Given the description of an element on the screen output the (x, y) to click on. 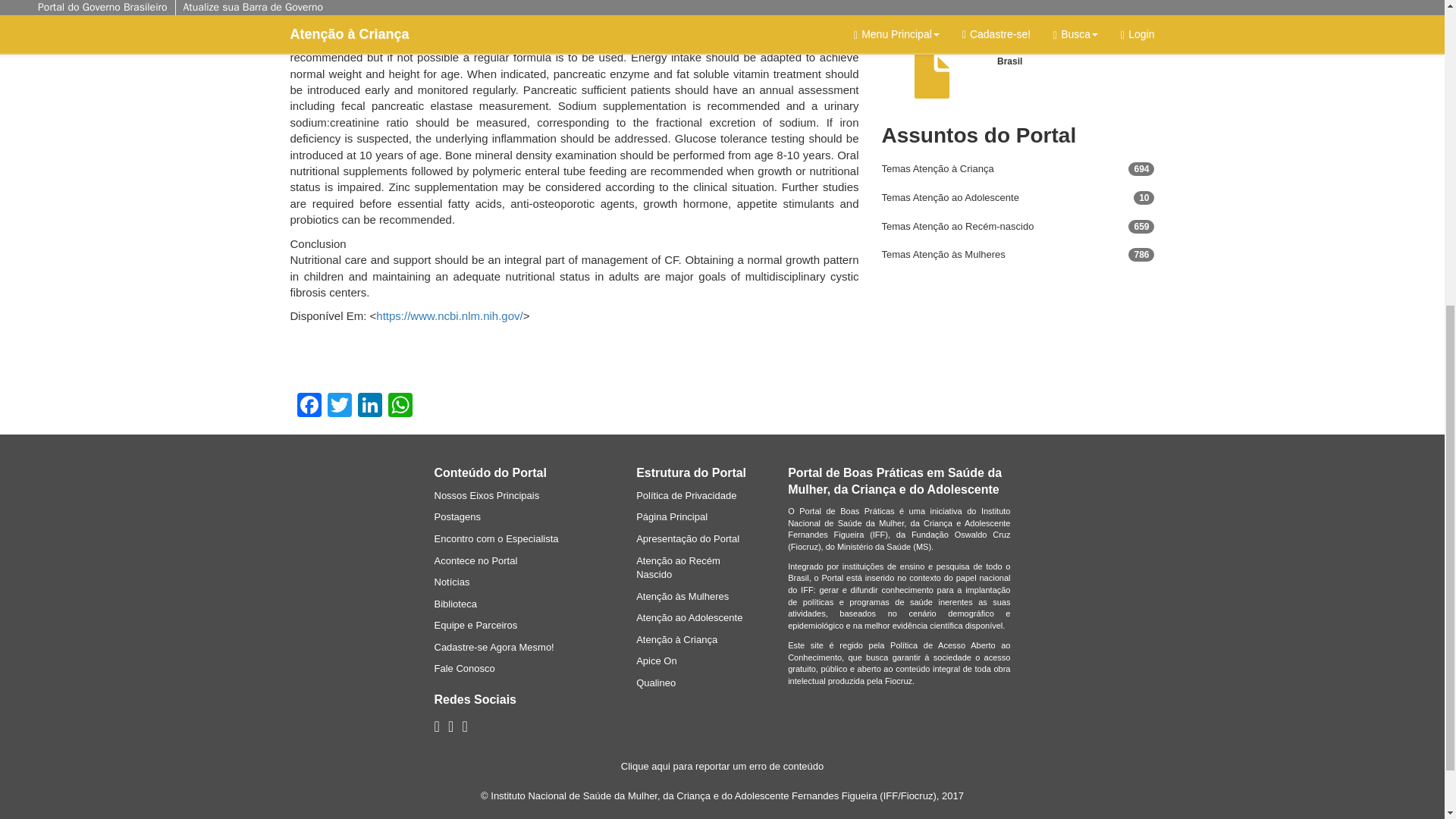
Facebook (309, 406)
LinkedIn (370, 406)
WhatsApp (399, 406)
Twitter (339, 406)
Facebook (309, 406)
